Given the description of an element on the screen output the (x, y) to click on. 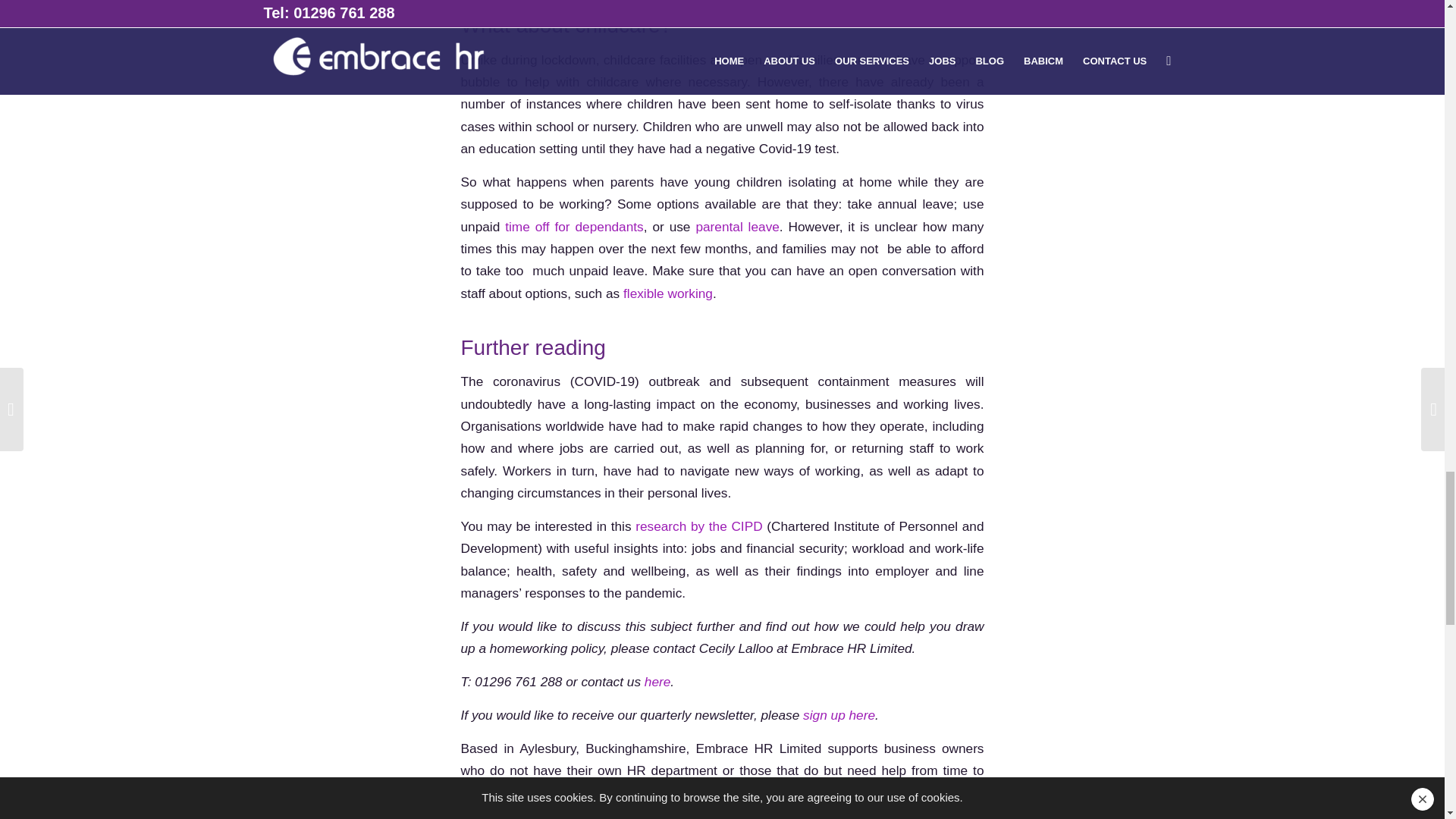
here (658, 681)
sign up here (839, 714)
flexible working (668, 293)
research by the CIPD (697, 525)
parental leave (736, 226)
time off for dependants (571, 226)
